Given the description of an element on the screen output the (x, y) to click on. 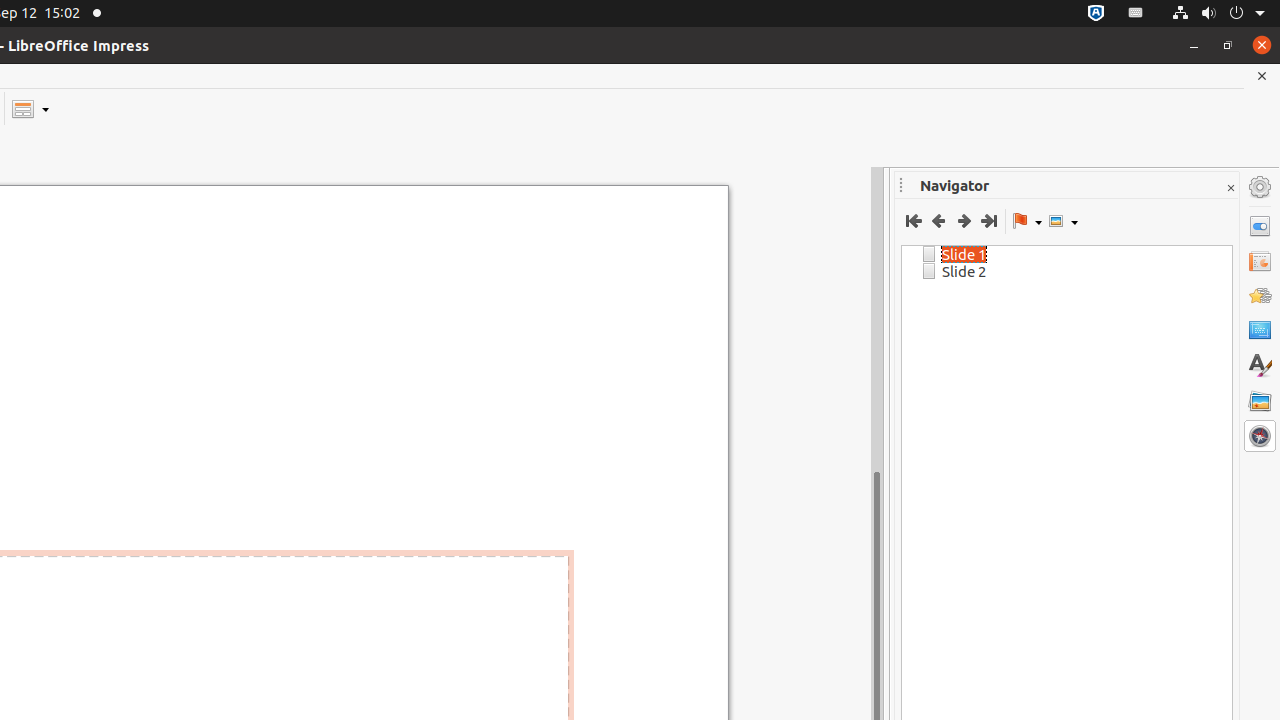
Close Sidebar Deck Element type: push-button (1230, 188)
Properties Element type: radio-button (1260, 226)
Drag Mode Element type: push-button (1027, 221)
